Given the description of an element on the screen output the (x, y) to click on. 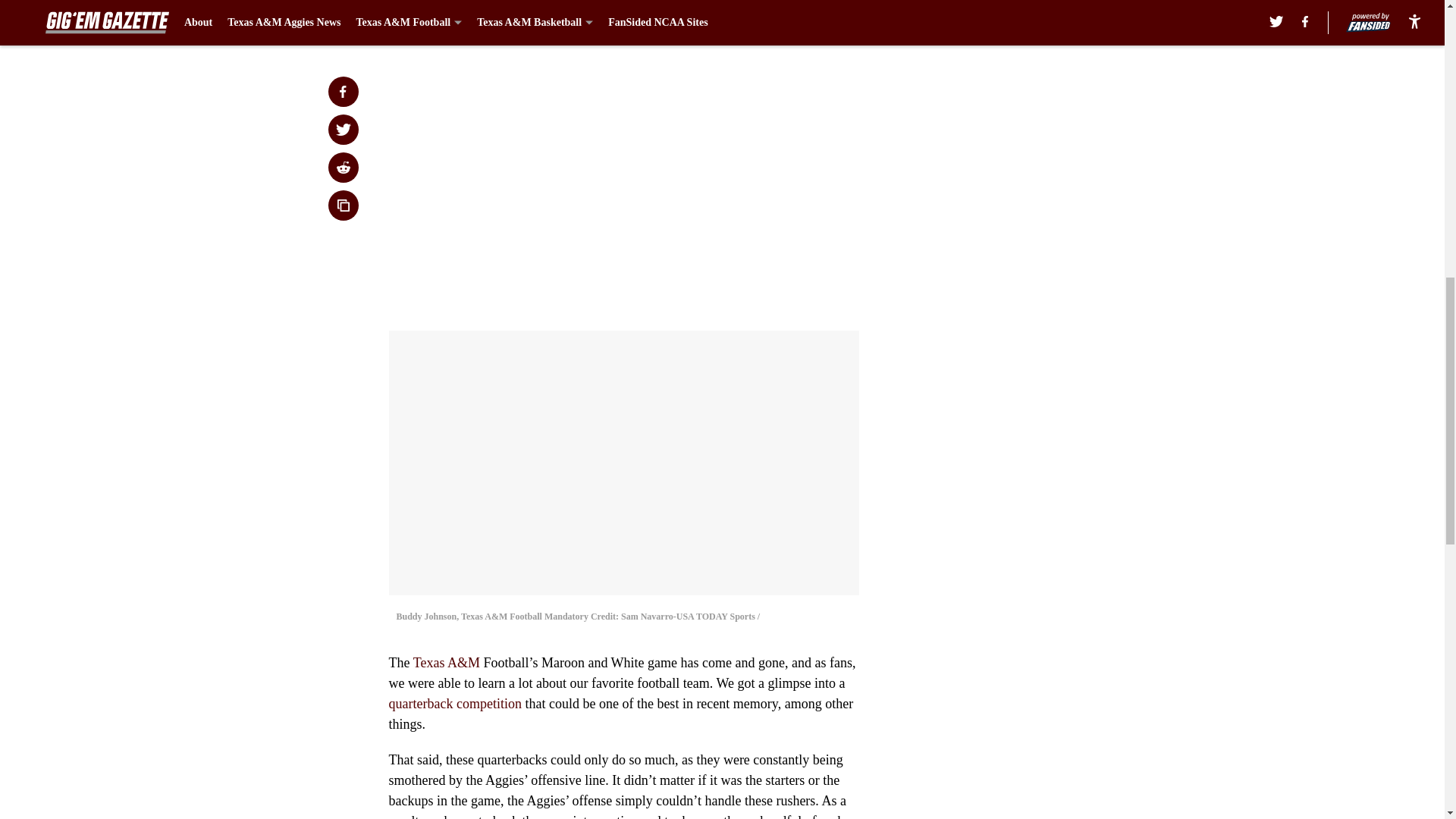
quarterback competition (454, 703)
Next (813, 20)
Prev (433, 20)
